Given the description of an element on the screen output the (x, y) to click on. 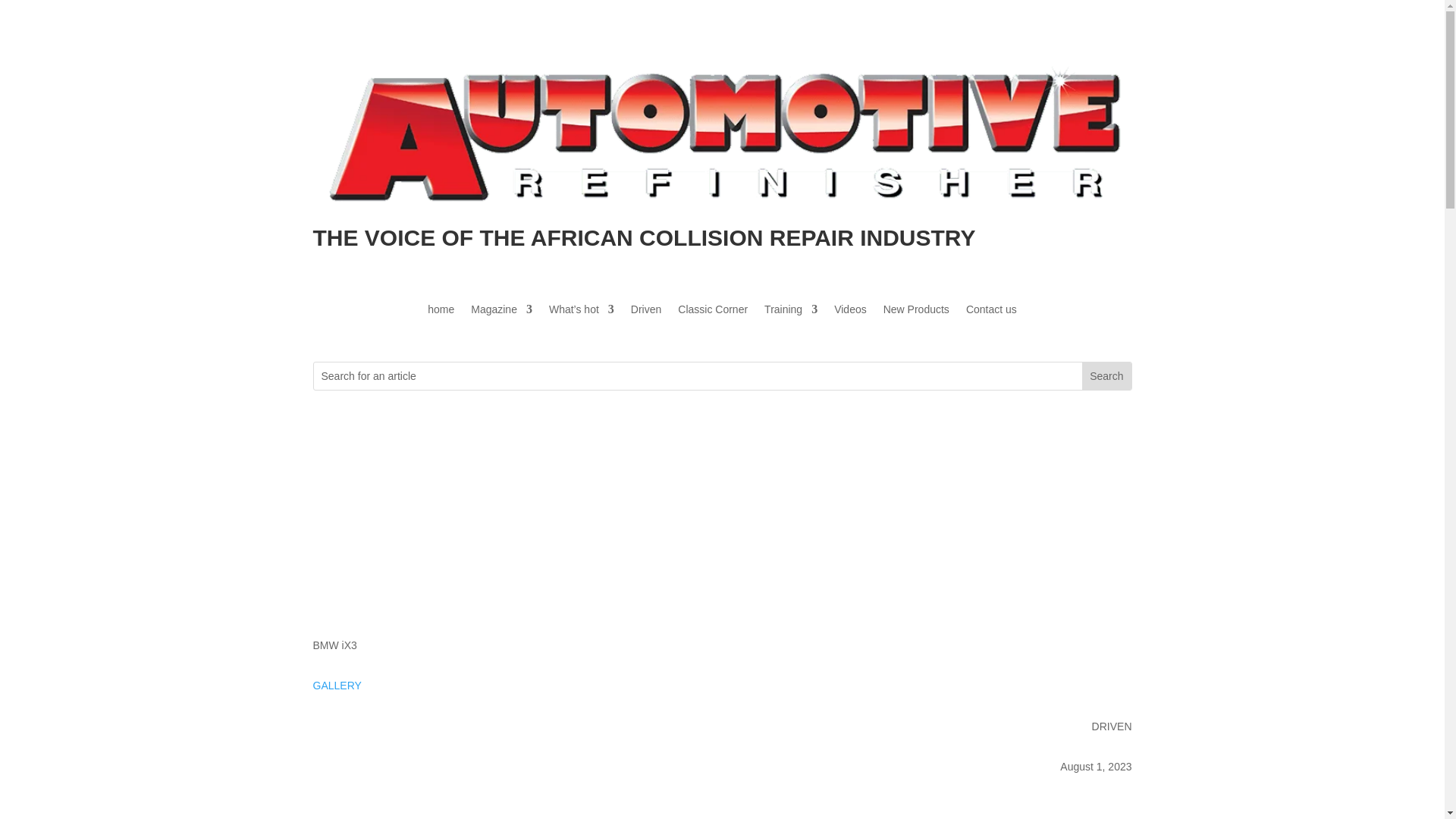
Search (1106, 375)
Contact us (991, 312)
Videos (850, 312)
New Products (916, 312)
Classic Corner (713, 312)
Search (1106, 375)
AUTO-REF-LOGO (722, 132)
GALLERY (337, 685)
home (441, 312)
Driven (645, 312)
